Given the description of an element on the screen output the (x, y) to click on. 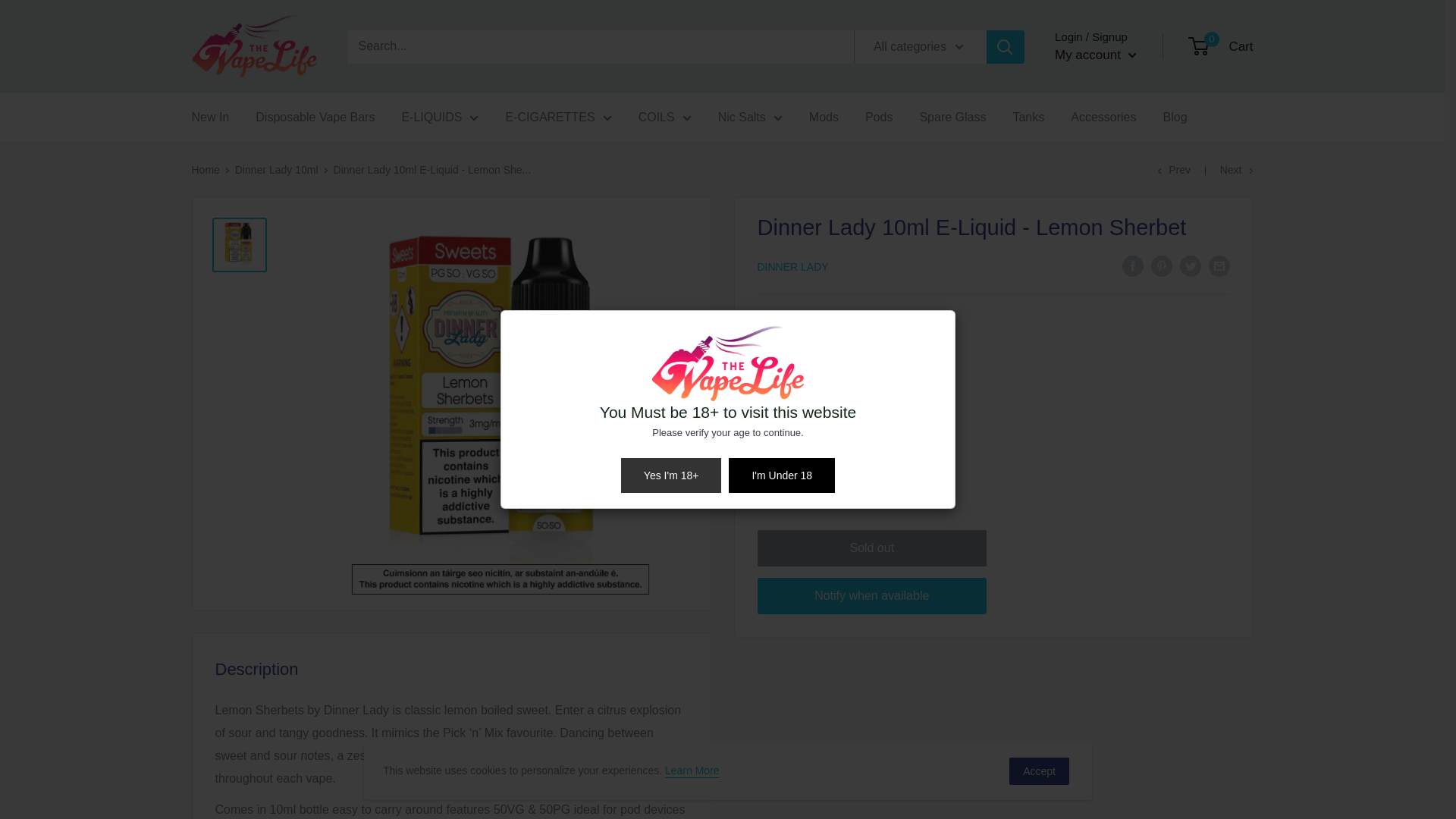
I'm Under 18 (781, 475)
3mg (901, 351)
6mg (783, 351)
12mg (841, 351)
